Given the description of an element on the screen output the (x, y) to click on. 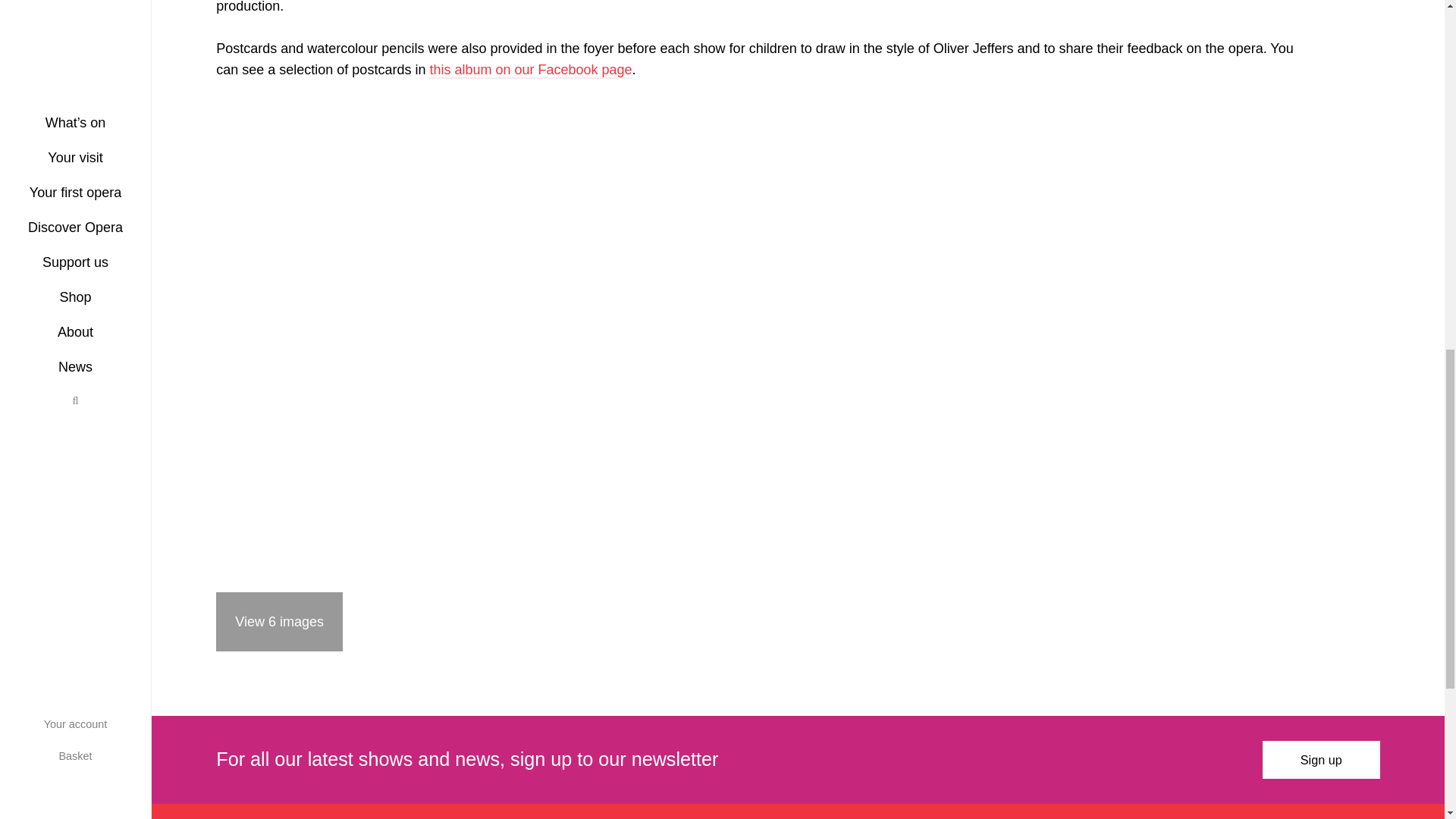
Book now (23, 82)
Find out more (23, 324)
Find out more (23, 124)
Book now (23, 282)
